Given the description of an element on the screen output the (x, y) to click on. 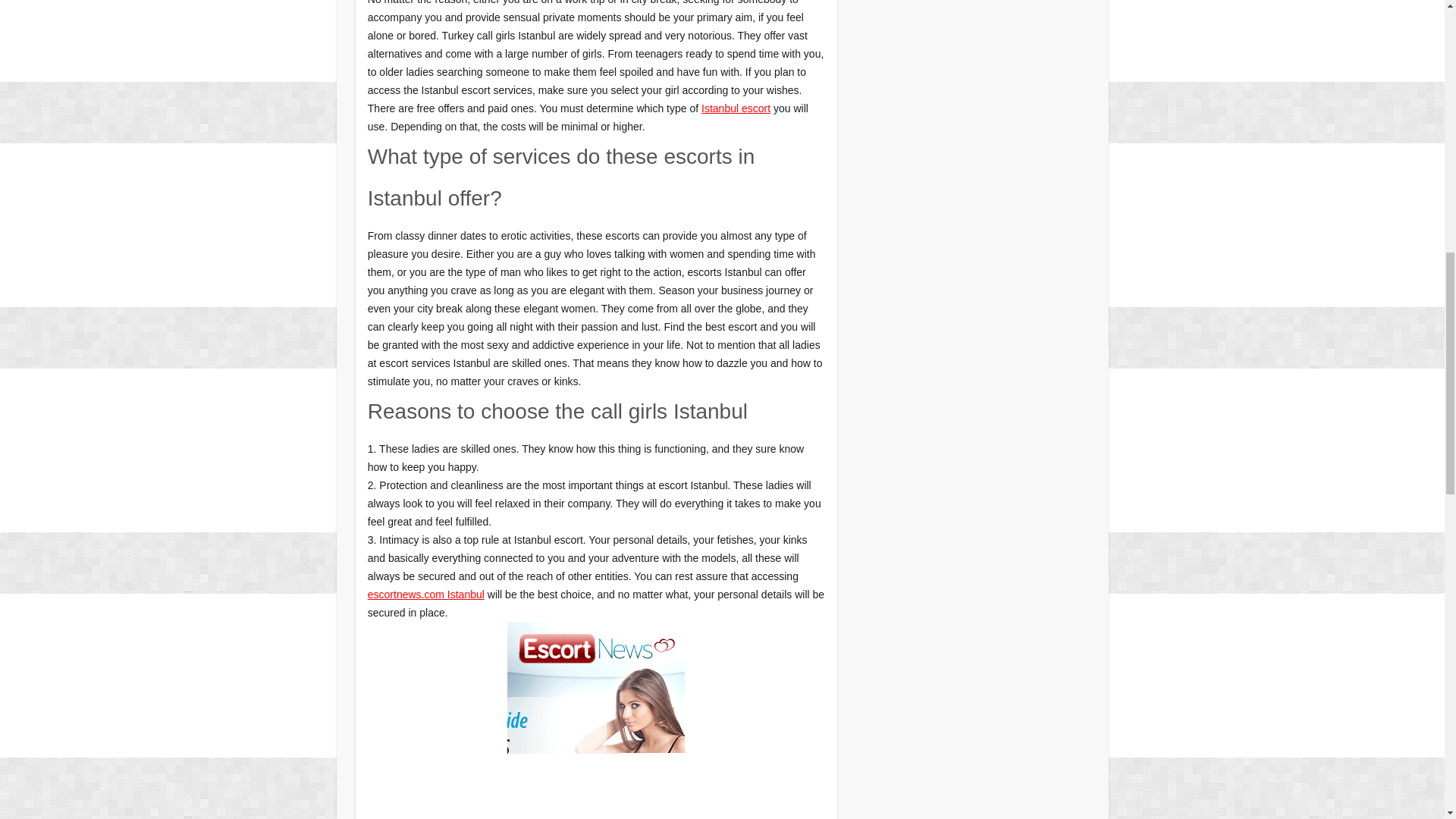
Istanbul escort (735, 108)
escortnews.com Istanbul (426, 594)
Escort Istanbul (595, 630)
